Given the description of an element on the screen output the (x, y) to click on. 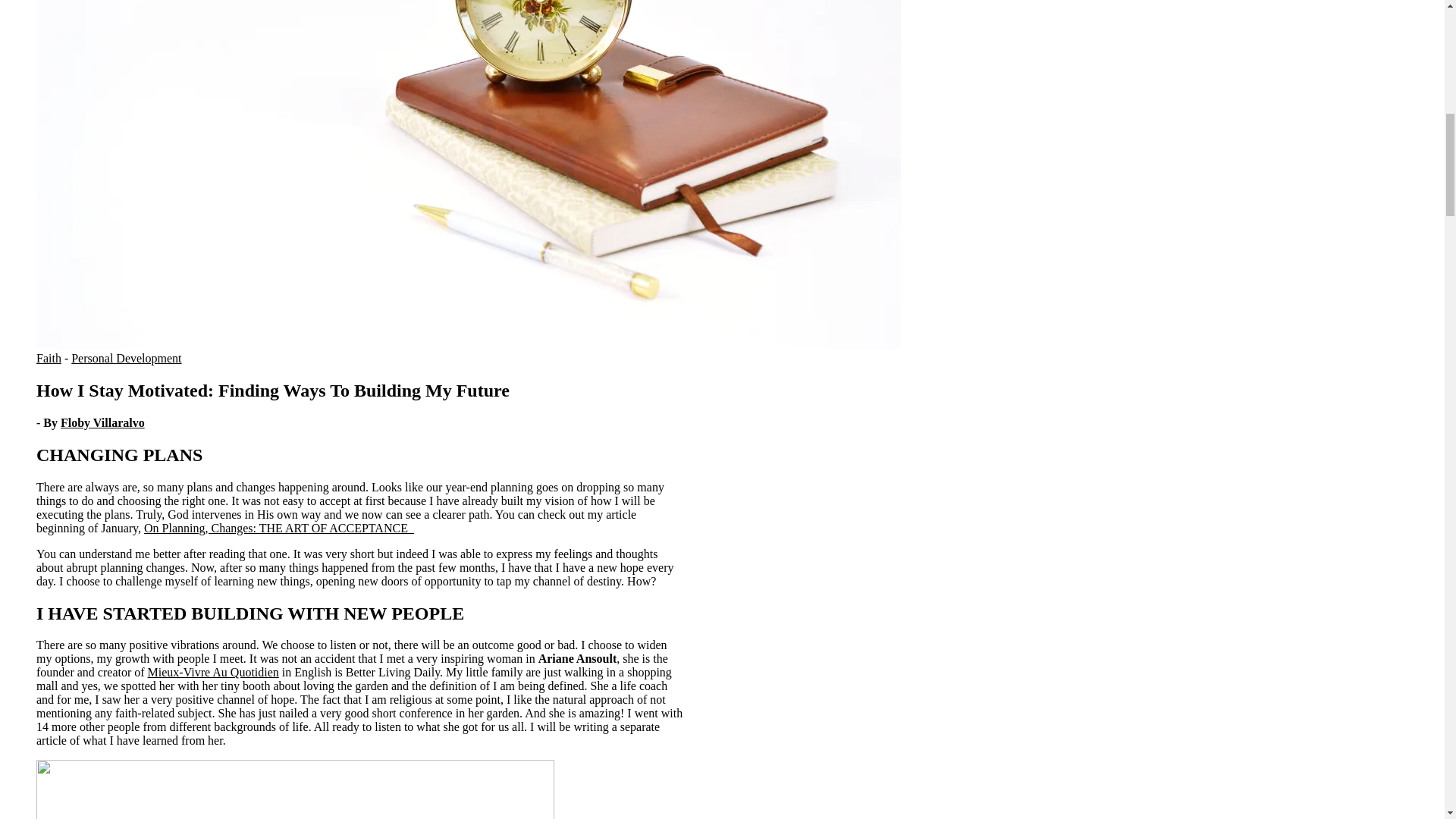
Faith (48, 358)
Posts by Floby Villaralvo (102, 422)
Mieux-Vivre Au Quotidien (213, 671)
Floby Villaralvo (102, 422)
Personal Development (125, 358)
On Planning, Changes: THE ART OF ACCEPTANCE   (278, 527)
